Given the description of an element on the screen output the (x, y) to click on. 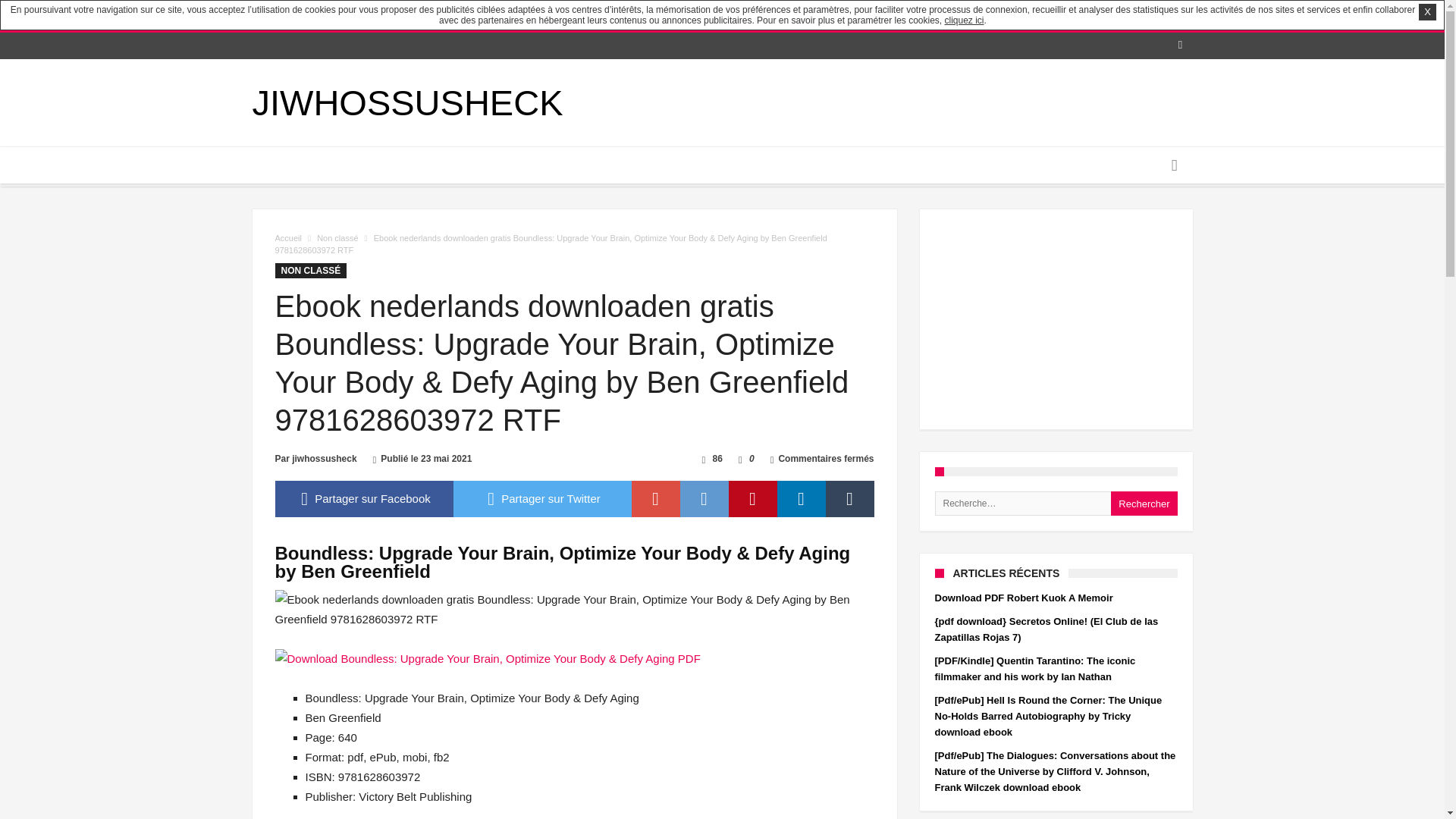
JIWHOSSUSHECK (406, 102)
Rss (1179, 45)
Partager sur Linkedin (800, 498)
linkedin (800, 498)
J'aime cet article (739, 458)
Partager sur Pinterest (752, 498)
Partager sur Reddit (703, 498)
Rechercher (1143, 503)
tumblr (849, 498)
Rechercher (1143, 503)
Partager sur Twitter (541, 498)
reddit (703, 498)
facebook (363, 498)
jiwhossusheck (324, 458)
pinterest (752, 498)
